Given the description of an element on the screen output the (x, y) to click on. 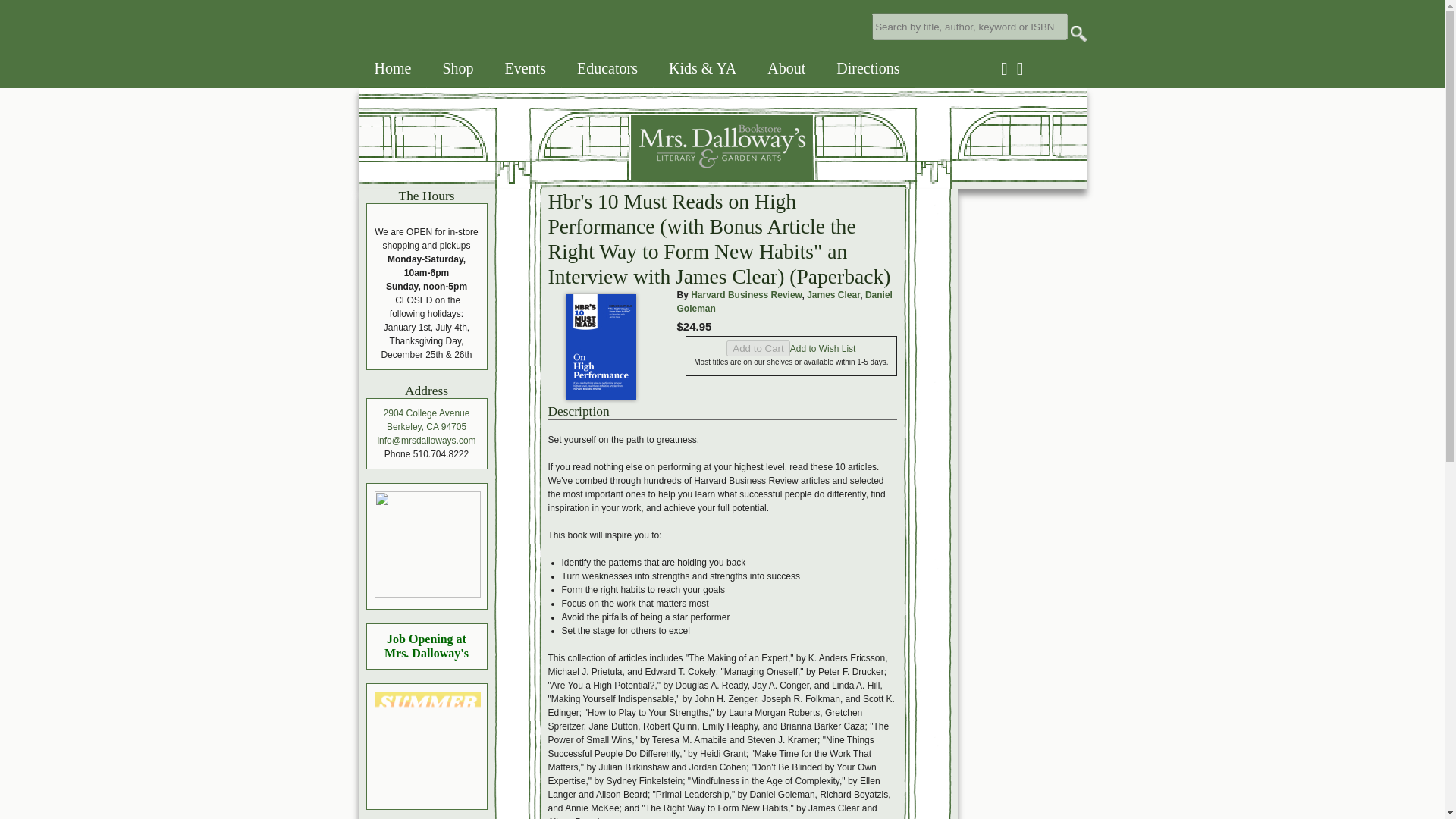
Directions (867, 68)
James Clear (833, 294)
Daniel Goleman (784, 301)
Home (585, 176)
Educators (607, 68)
Harvard Business Review (746, 294)
About (786, 68)
Skip to navigation (21, 0)
Add to Cart (757, 348)
Home (392, 68)
